Given the description of an element on the screen output the (x, y) to click on. 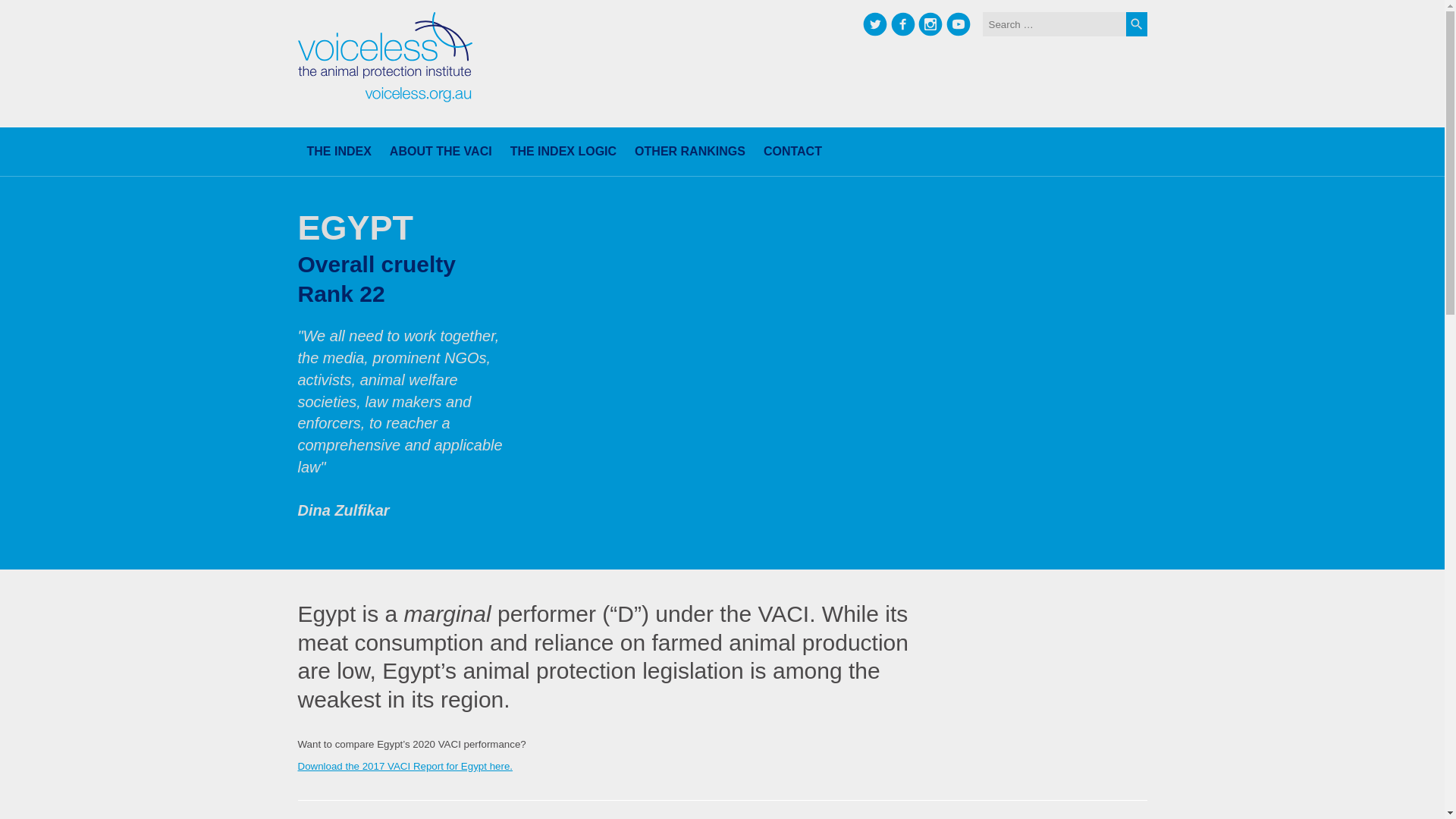
OTHER RANKINGS (690, 151)
CONTACT (788, 151)
ABOUT THE VACI (440, 151)
Download the 2017 VACI Report for Egypt here. (404, 766)
THE INDEX (338, 151)
THE INDEX LOGIC (563, 151)
